Given the description of an element on the screen output the (x, y) to click on. 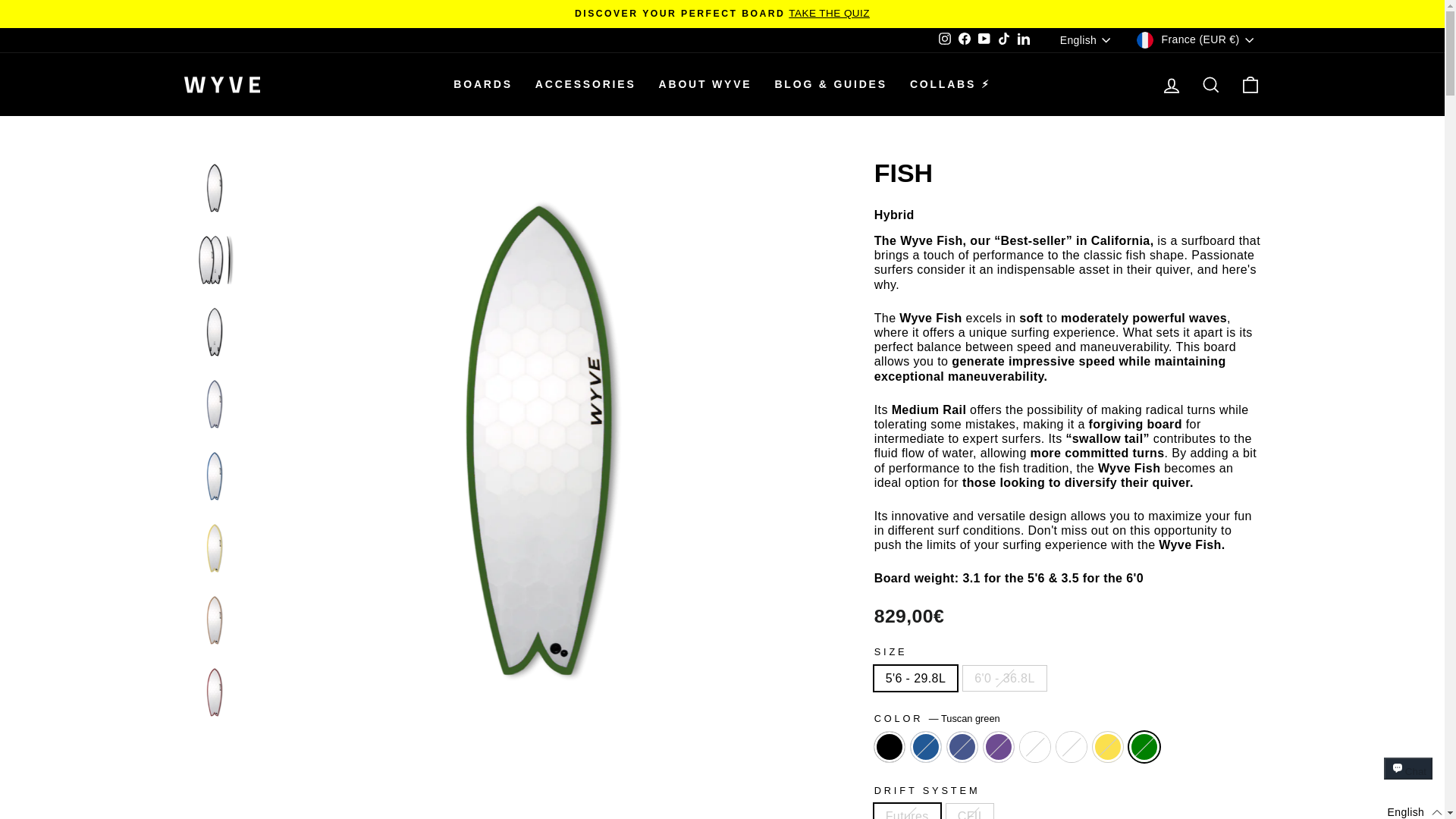
WYVE on Facebook (964, 39)
WYVE on Instagram (944, 39)
WYVE on LinkedIn (1023, 39)
Shopify online store chat (1408, 781)
DISCOVER YOUR PERFECT BOARDTAKE THE QUIZ (722, 13)
WYVE on TikTok (1003, 39)
